Given the description of an element on the screen output the (x, y) to click on. 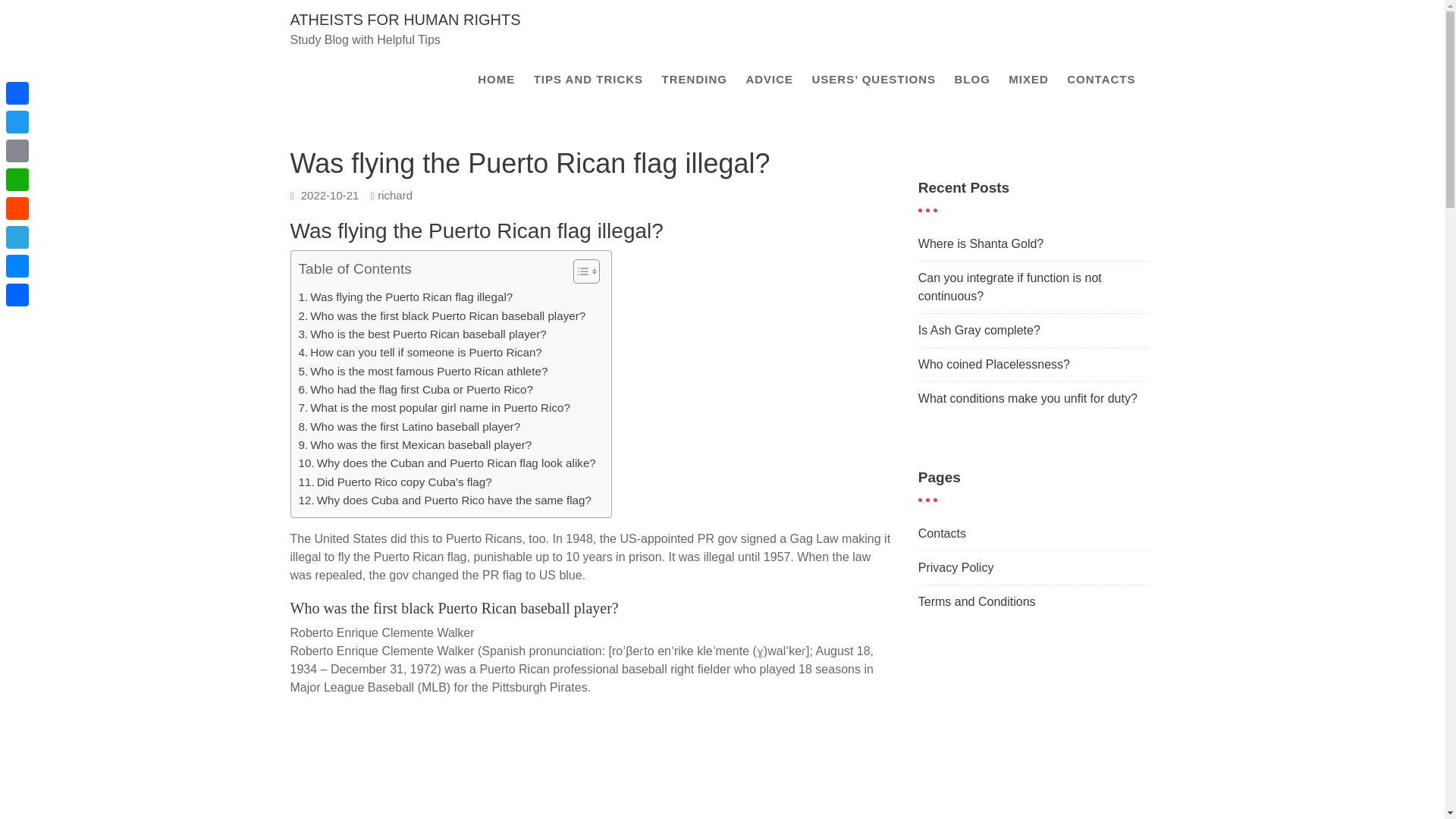
Was flying the Puerto Rican flag illegal? (405, 297)
TRENDING (694, 79)
Who had the flag first Cuba or Puerto Rico? (416, 389)
TIPS AND TRICKS (587, 79)
What is the most popular girl name in Puerto Rico? (434, 407)
MIXED (1029, 79)
Who was the first Latino baseball player? (409, 426)
Atheists for human rights (404, 19)
How can you tell if someone is Puerto Rican? (419, 352)
ATHEISTS FOR HUMAN RIGHTS (404, 19)
